Given the description of an element on the screen output the (x, y) to click on. 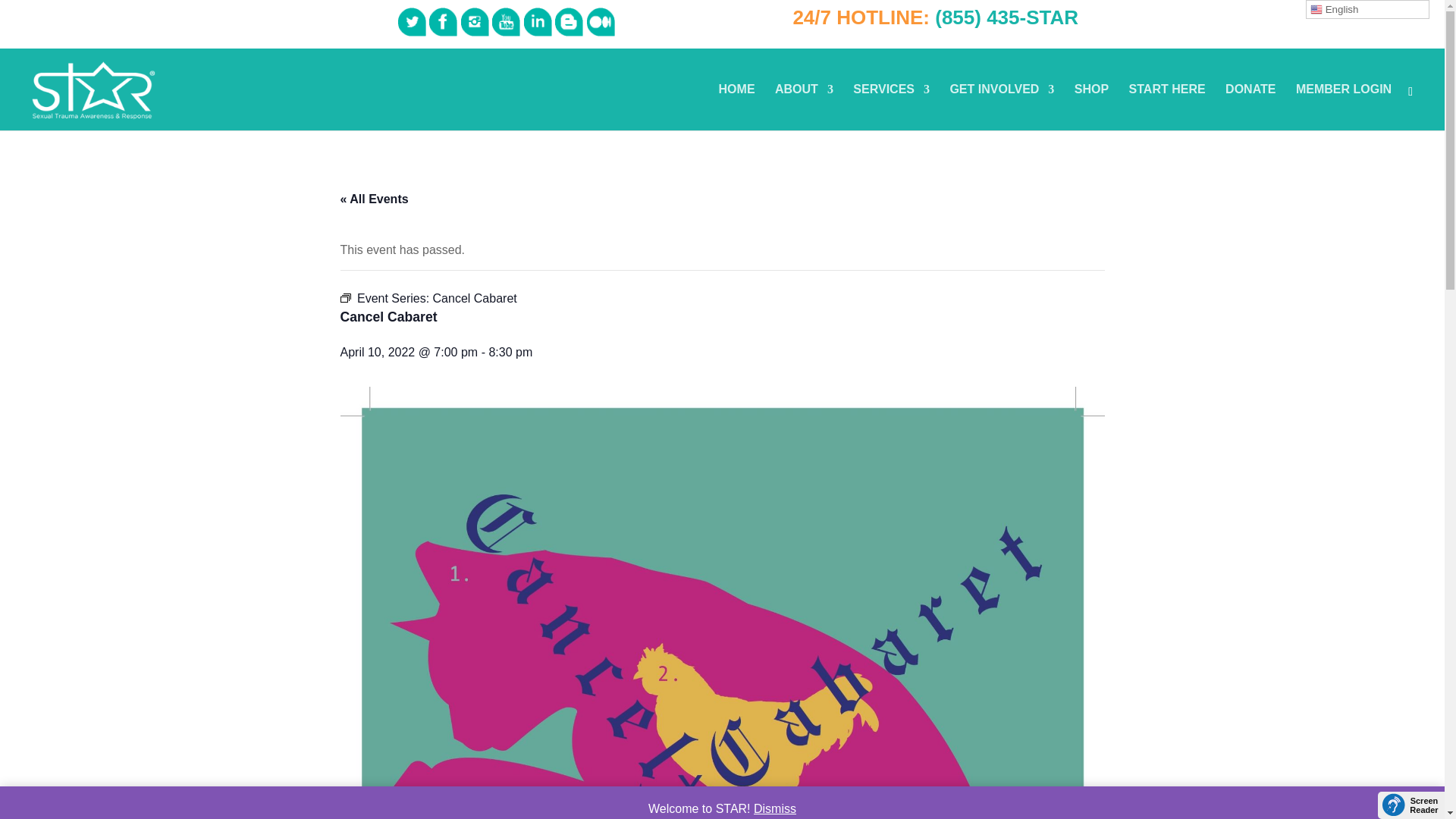
SERVICES (891, 107)
ABOUT (803, 107)
Event Series (344, 297)
DONATE (1250, 107)
START HERE (1167, 107)
GET INVOLVED (1001, 107)
MEMBER LOGIN (1343, 107)
